Given the description of an element on the screen output the (x, y) to click on. 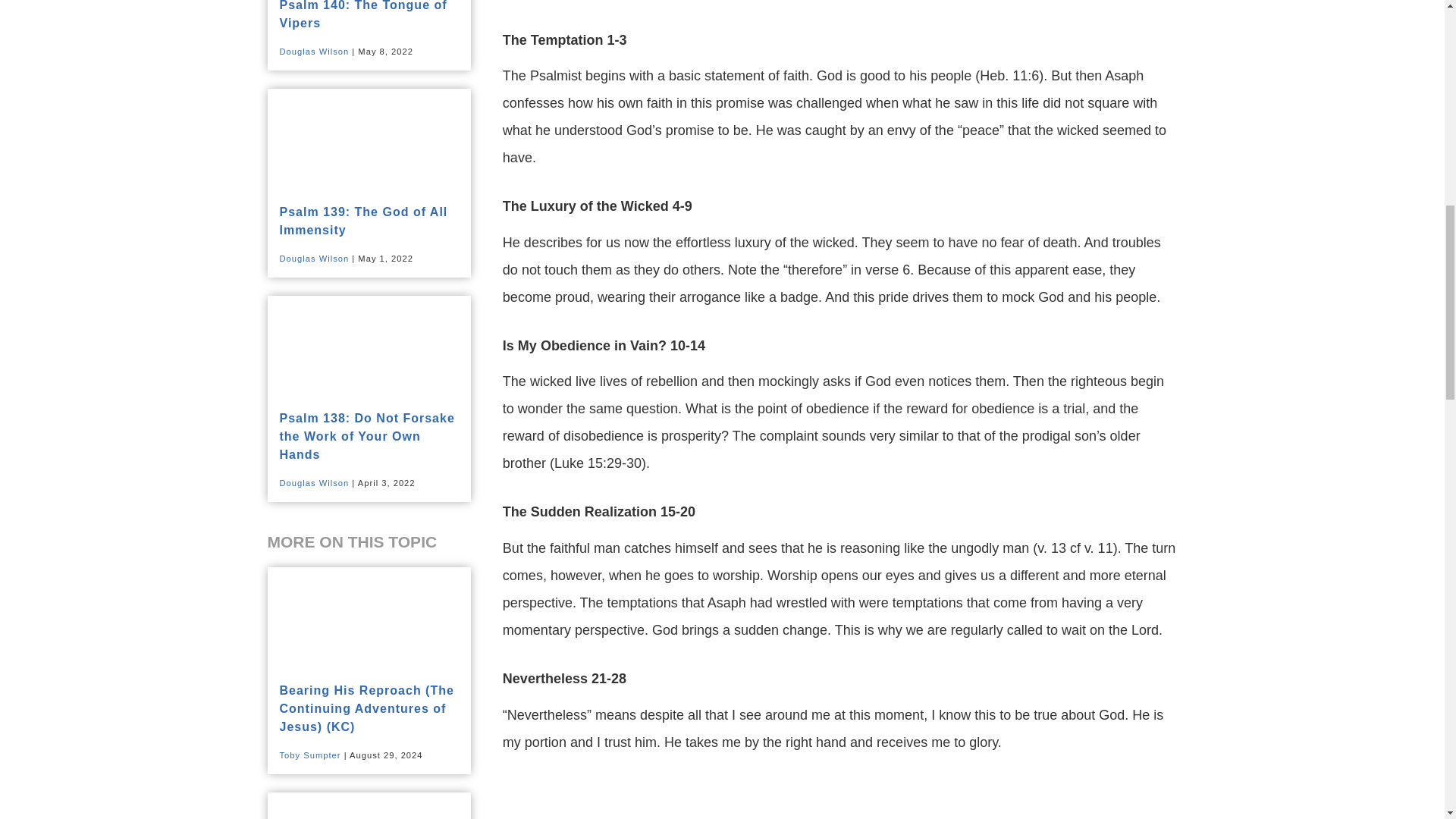
Douglas Wilson (314, 482)
Psalm 140: The Tongue of Vipers (362, 14)
Toby Sumpter (309, 755)
Psalm 138: Do Not Forsake the Work of Your Own Hands (366, 436)
Psalm 139: The God of All Immensity (362, 220)
Douglas Wilson (314, 51)
Douglas Wilson (314, 257)
